Given the description of an element on the screen output the (x, y) to click on. 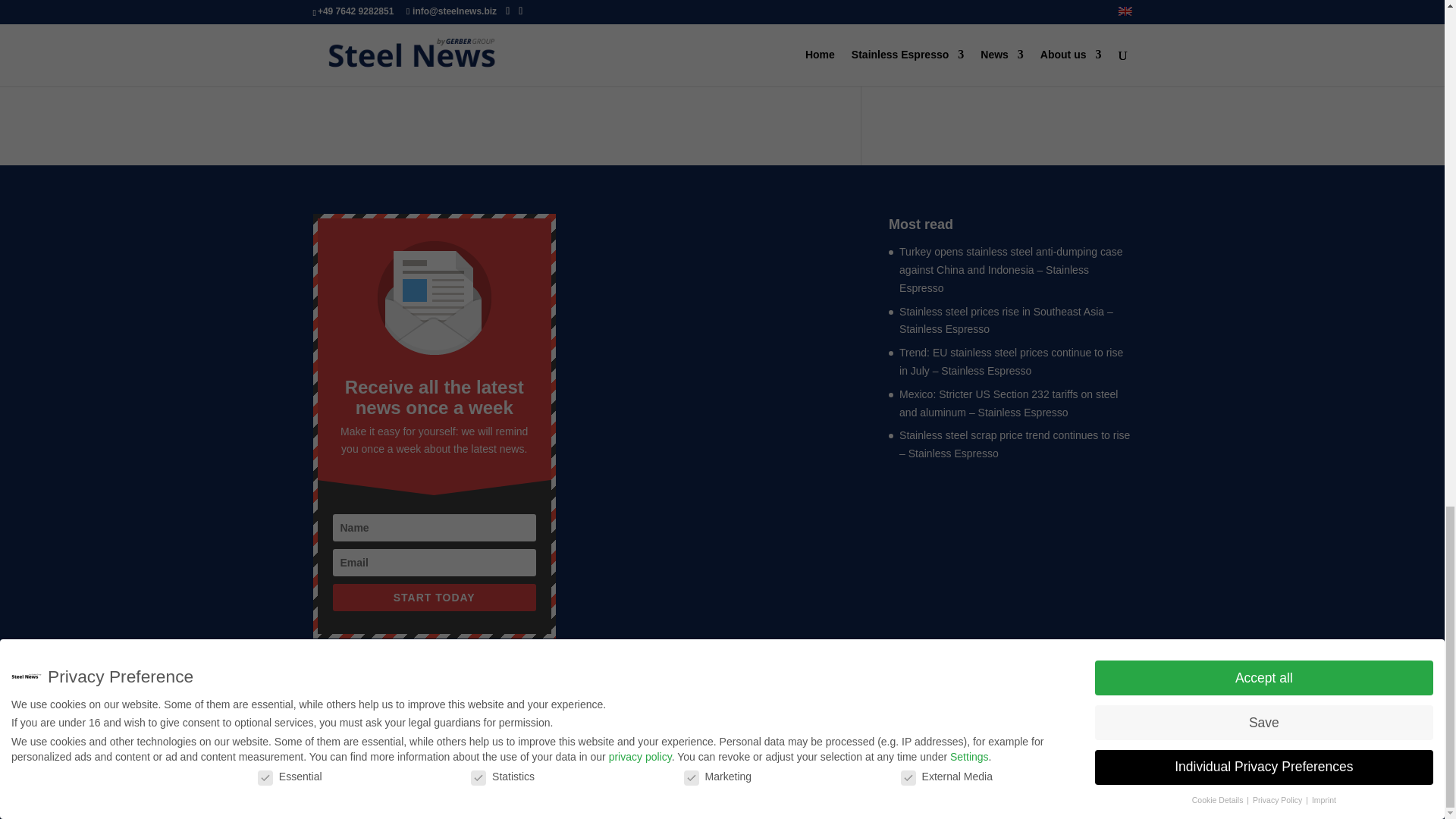
Rss (370, 63)
Phone (327, 63)
Linkedin (349, 63)
